Given the description of an element on the screen output the (x, y) to click on. 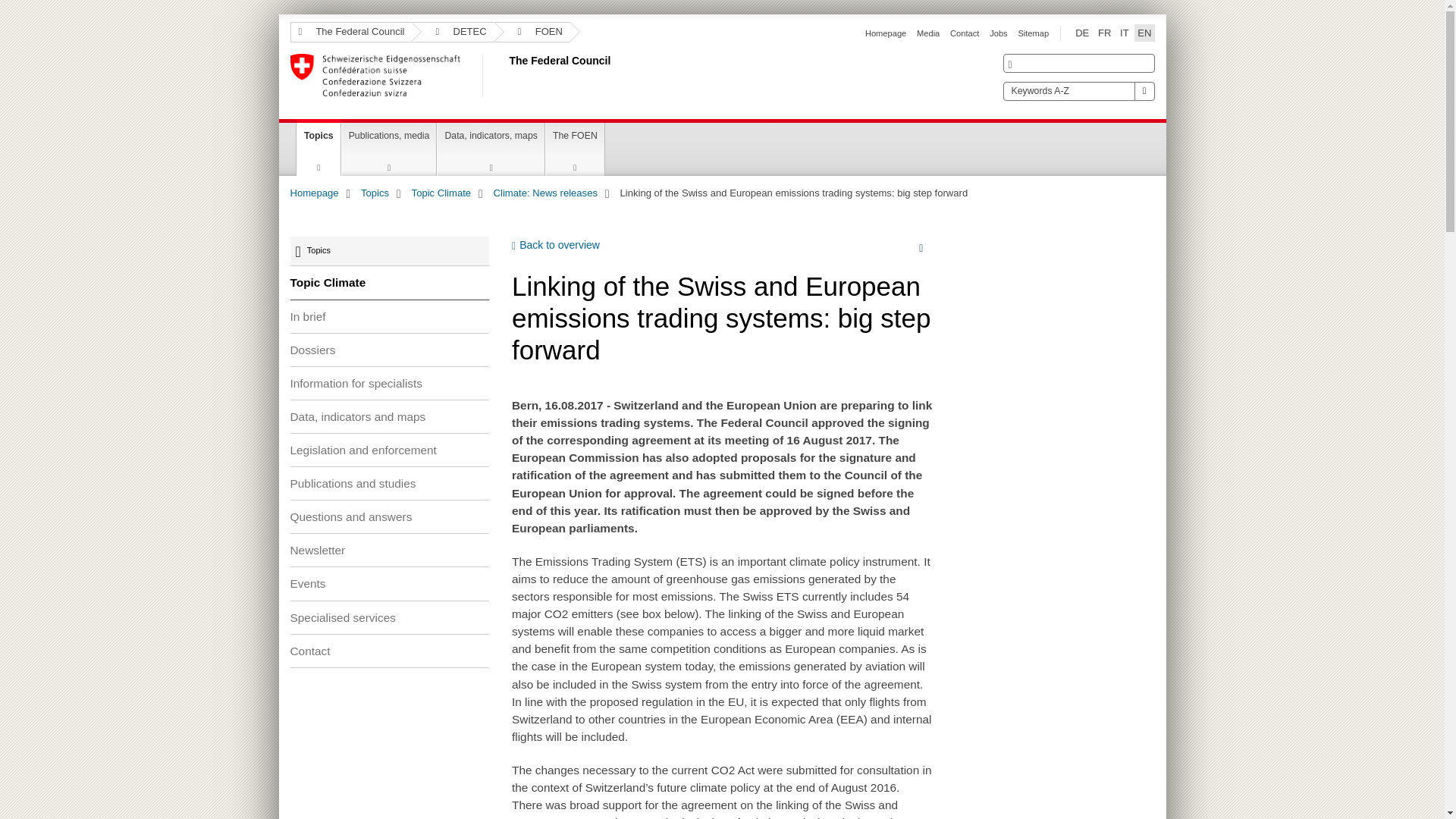
FR (1103, 32)
Media (928, 32)
The Federal Council (350, 32)
Homepage (884, 32)
Jobs (998, 32)
EN (1144, 32)
Contact (964, 32)
FOEN (532, 32)
The Federal Council (505, 75)
DETEC (452, 32)
DE (1081, 32)
Sitemap (1032, 32)
